Given the description of an element on the screen output the (x, y) to click on. 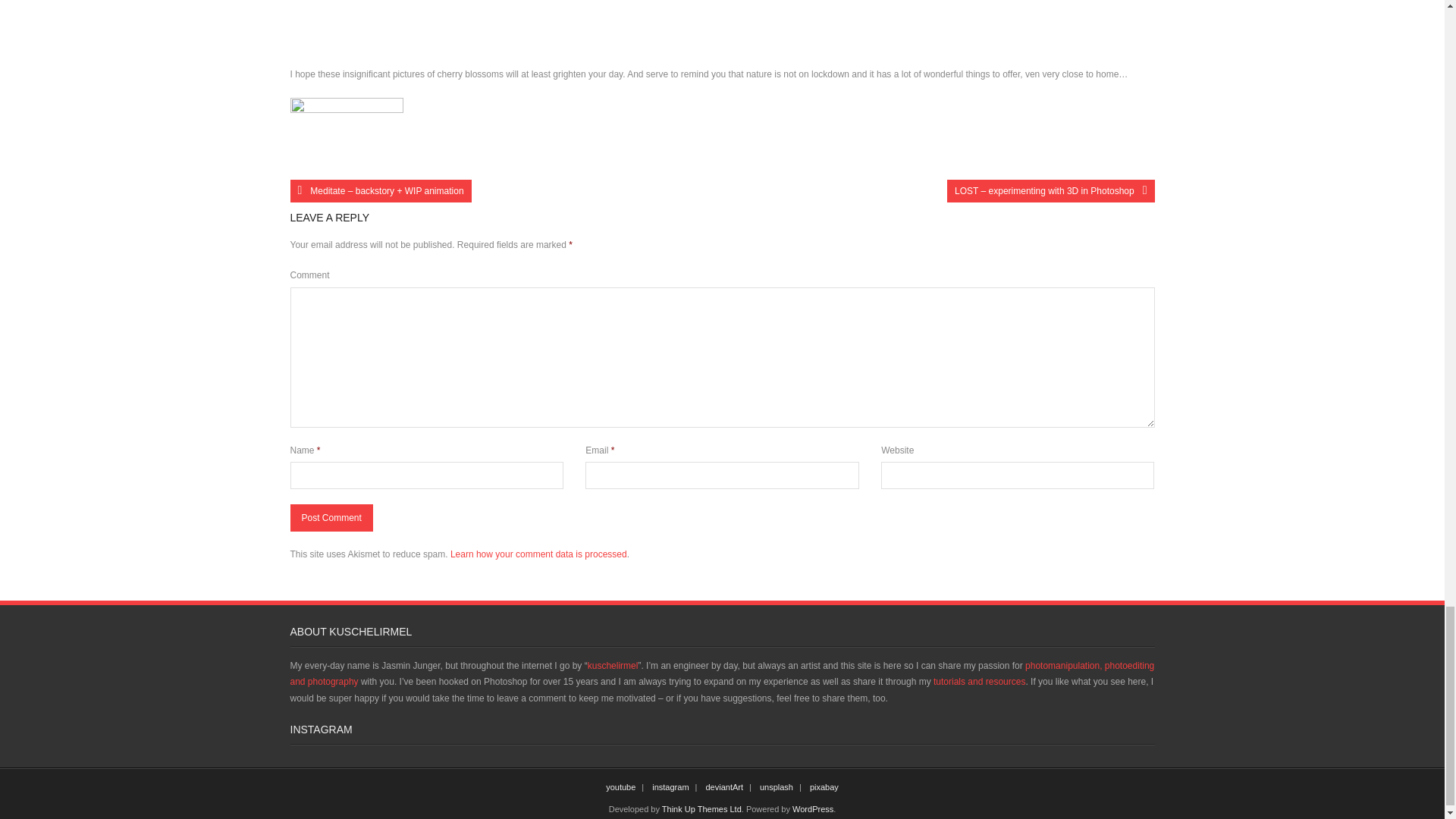
Post Comment (330, 517)
